Given the description of an element on the screen output the (x, y) to click on. 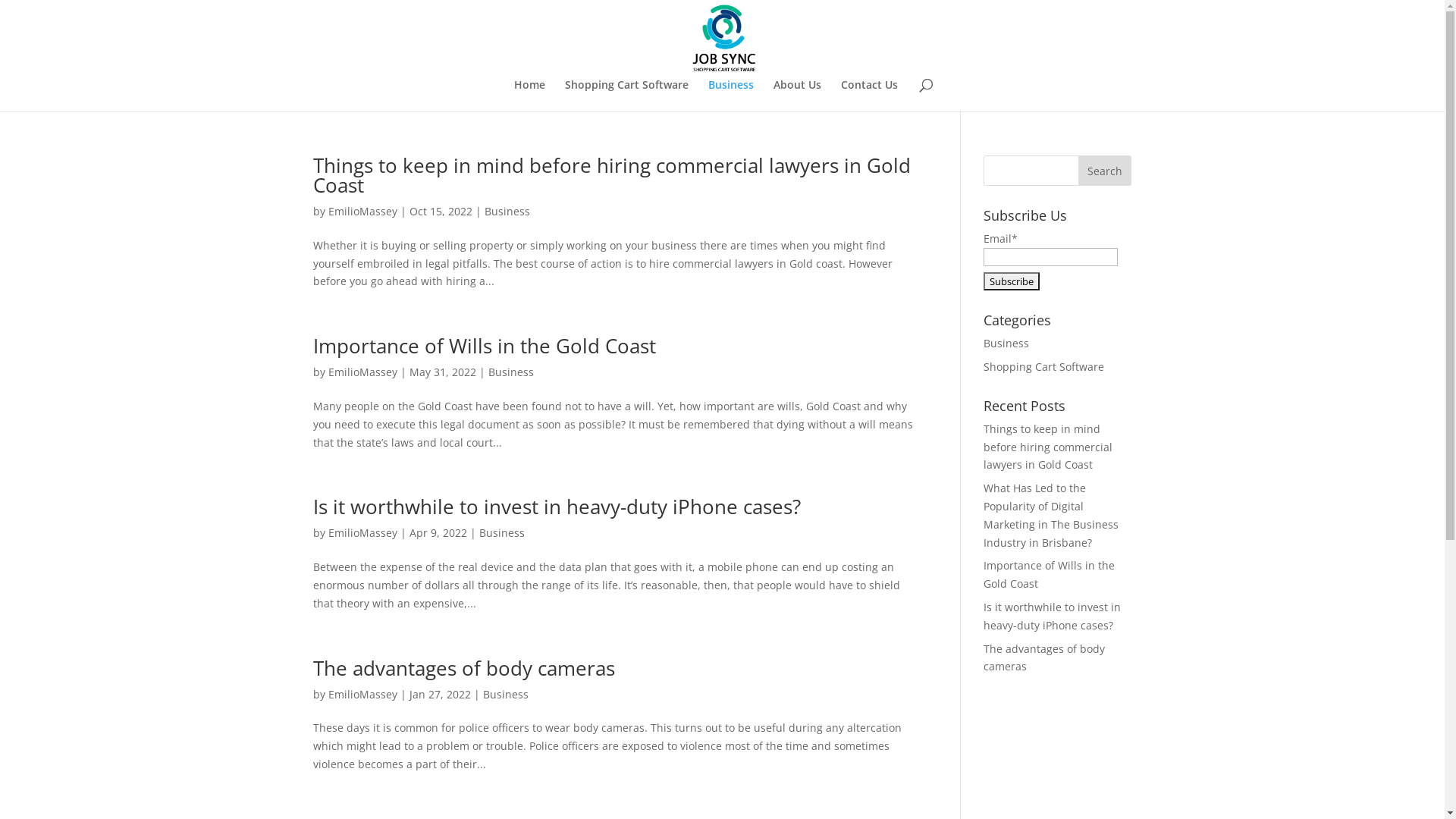
Business Element type: text (510, 371)
Business Element type: text (730, 95)
The advantages of body cameras Element type: text (1043, 657)
EmilioMassey Element type: text (361, 210)
EmilioMassey Element type: text (361, 694)
EmilioMassey Element type: text (361, 371)
Business Element type: text (501, 532)
EmilioMassey Element type: text (361, 532)
Shopping Cart Software Element type: text (1043, 366)
Business Element type: text (504, 694)
The advantages of body cameras Element type: text (463, 667)
Importance of Wills in the Gold Coast Element type: text (1048, 574)
Search Element type: text (1104, 170)
About Us Element type: text (797, 95)
Is it worthwhile to invest in heavy-duty iPhone cases? Element type: text (1051, 615)
Shopping Cart Software Element type: text (625, 95)
Importance of Wills in the Gold Coast Element type: text (483, 345)
Contact Us Element type: text (868, 95)
Subscribe Element type: text (1011, 281)
Business Element type: text (506, 210)
Home Element type: text (529, 95)
Business Element type: text (1006, 342)
Is it worthwhile to invest in heavy-duty iPhone cases? Element type: text (556, 506)
